Given the description of an element on the screen output the (x, y) to click on. 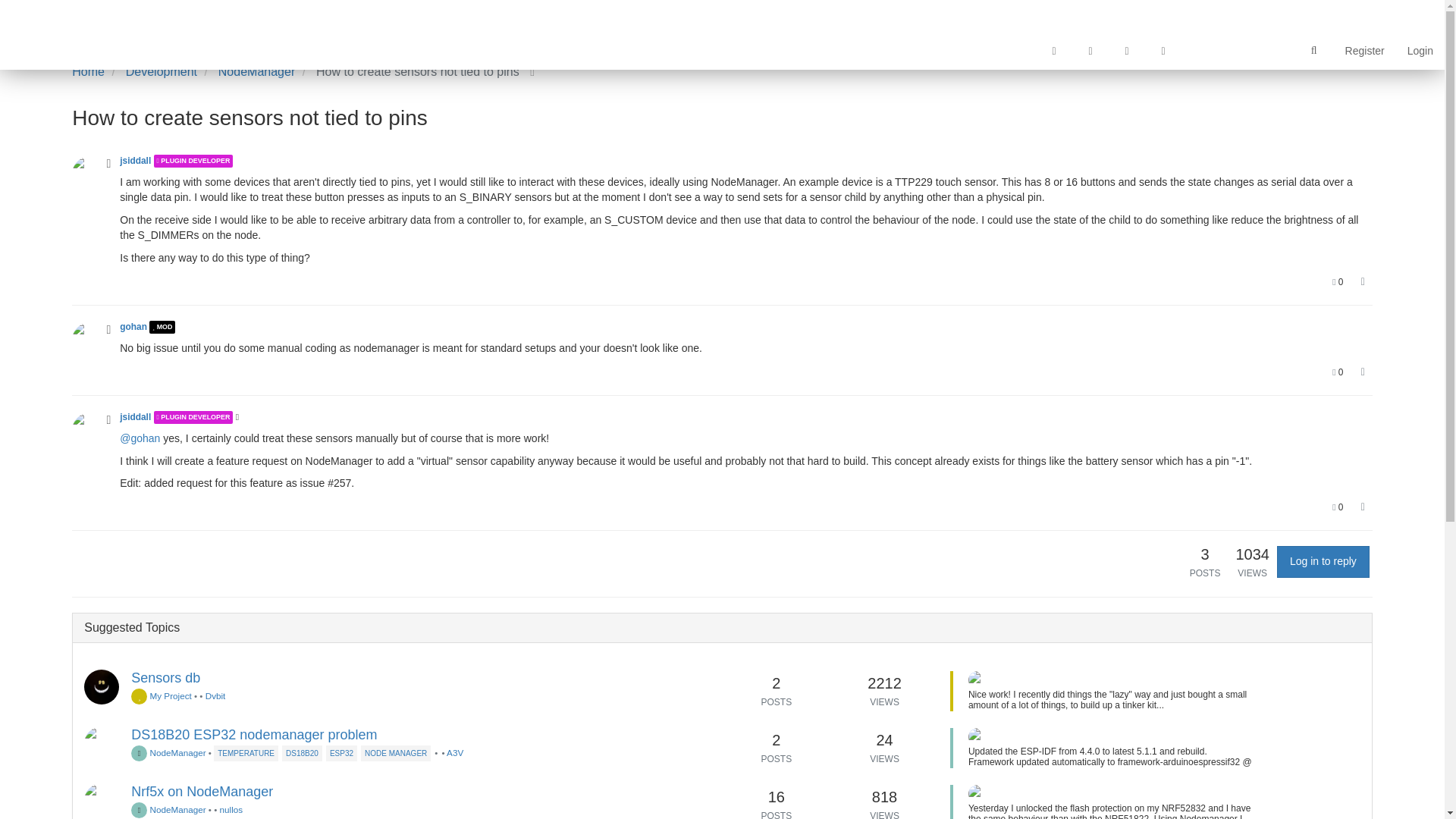
Development (160, 71)
Categories (1053, 50)
Recent (1089, 50)
Register (1364, 50)
jsiddall (89, 174)
Tags (1126, 50)
Popular (1162, 50)
Search (1313, 50)
jsiddall (135, 160)
Home (87, 71)
OpenHardware.io (1016, 50)
PLUGIN DEVELOPER (193, 160)
NodeManager (256, 71)
